Given the description of an element on the screen output the (x, y) to click on. 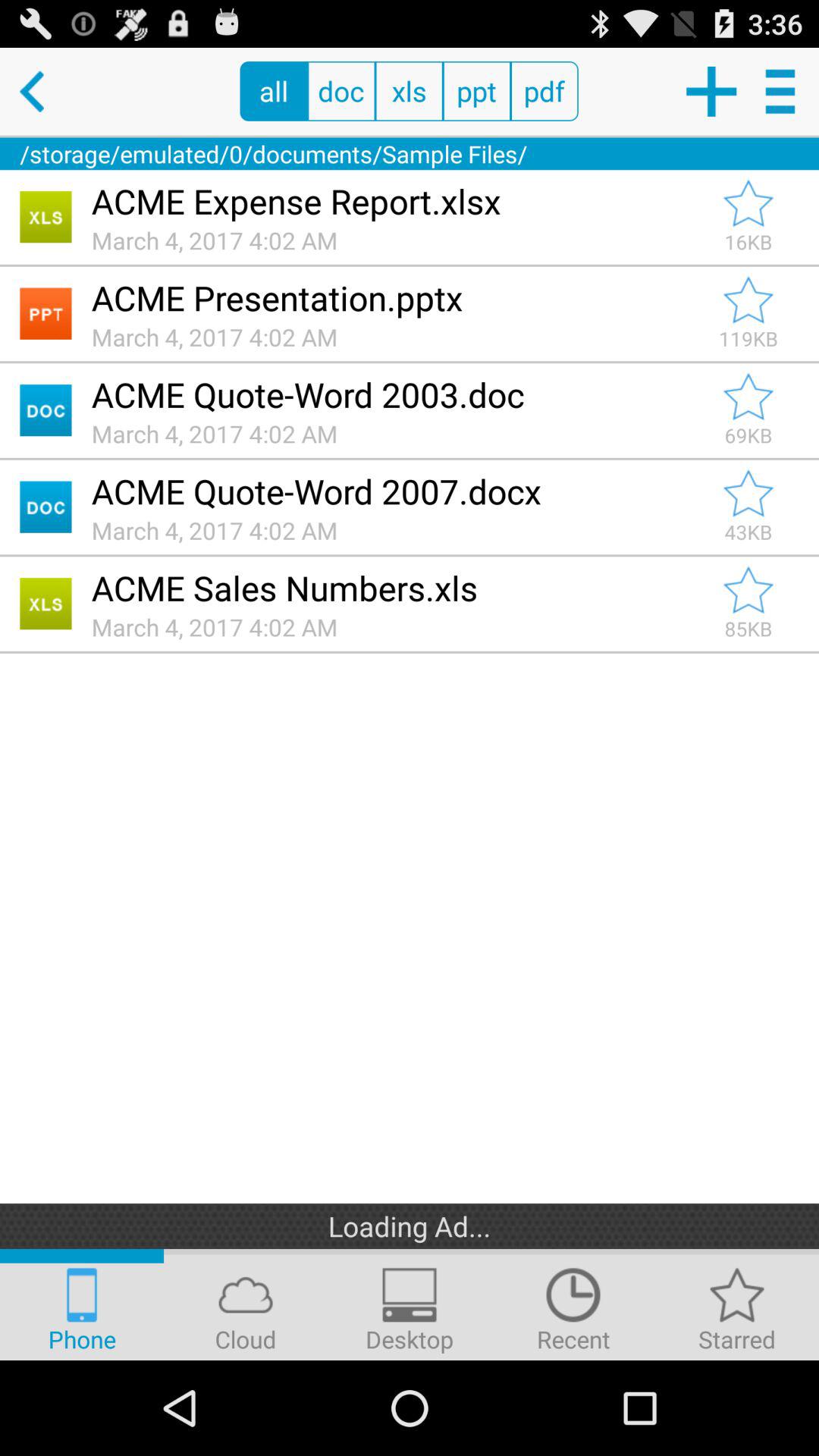
sets acme quote doc as a favorite (748, 493)
